Given the description of an element on the screen output the (x, y) to click on. 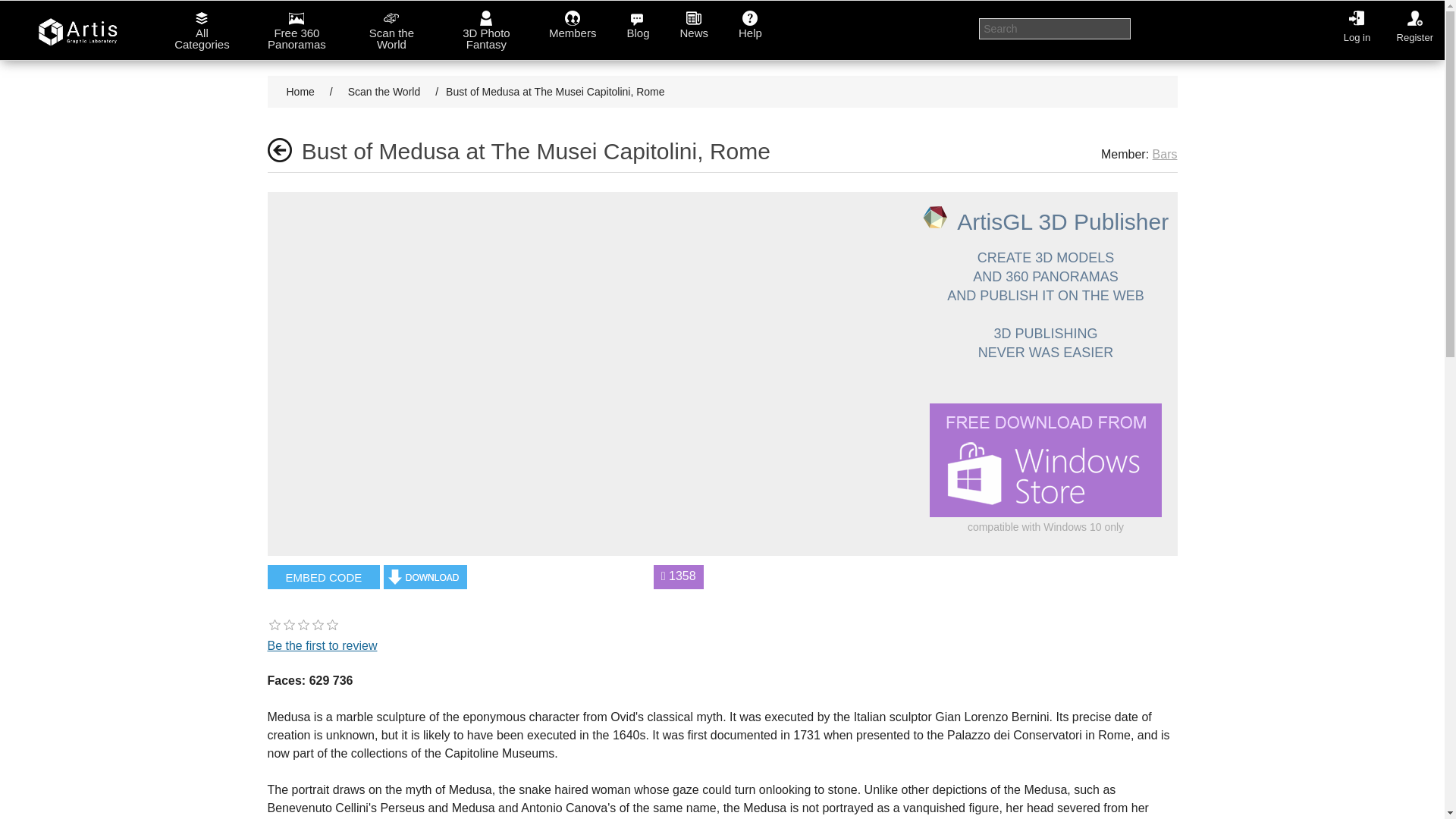
Home (299, 91)
Scan the World (383, 91)
Embed code (323, 576)
All Categories (202, 30)
Free 360 Panoramas (296, 30)
Scan the World (391, 30)
Members (572, 24)
3D Photo Fantasy (486, 30)
